Given the description of an element on the screen output the (x, y) to click on. 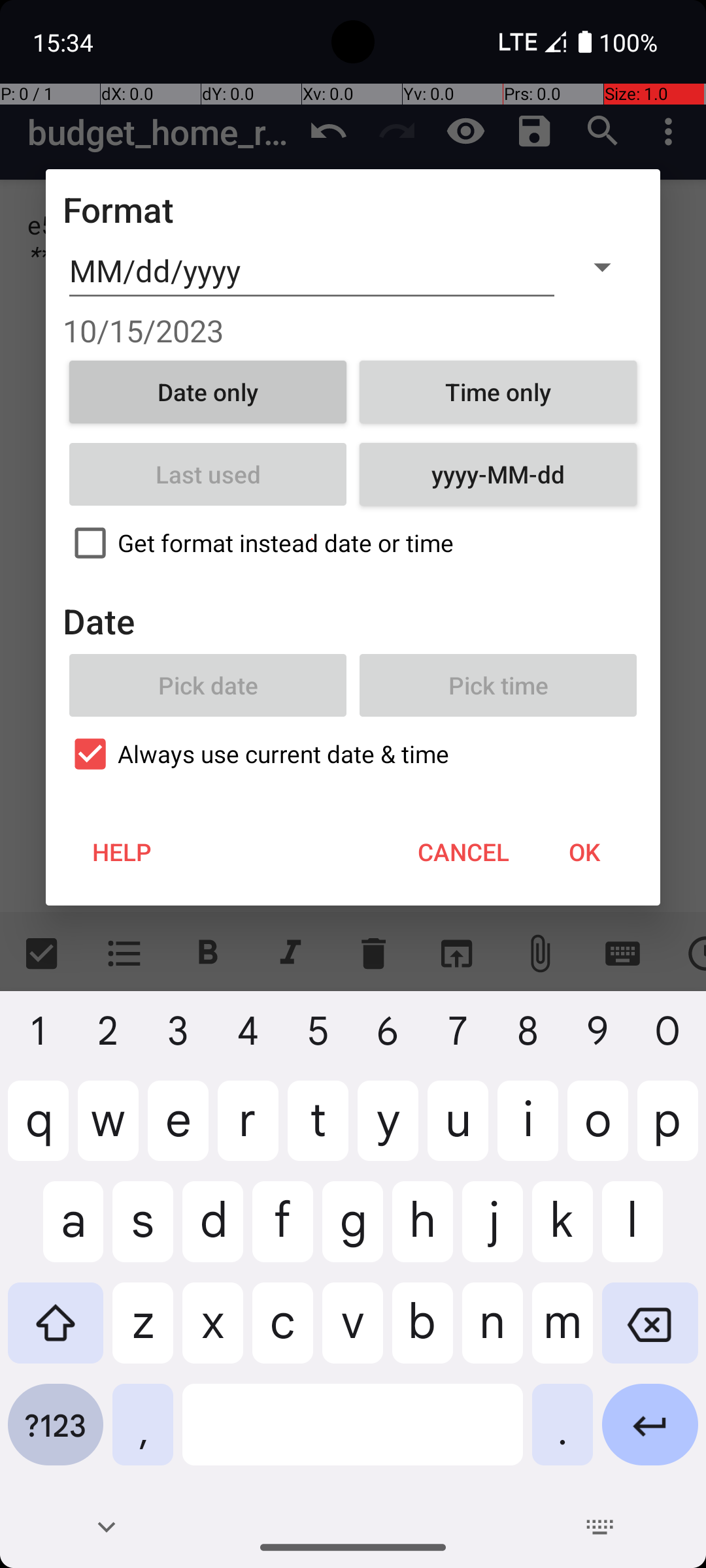
MM/dd/yyyy Element type: android.widget.EditText (311, 270)
10/15/2023 Element type: android.widget.TextView (352, 329)
